Given the description of an element on the screen output the (x, y) to click on. 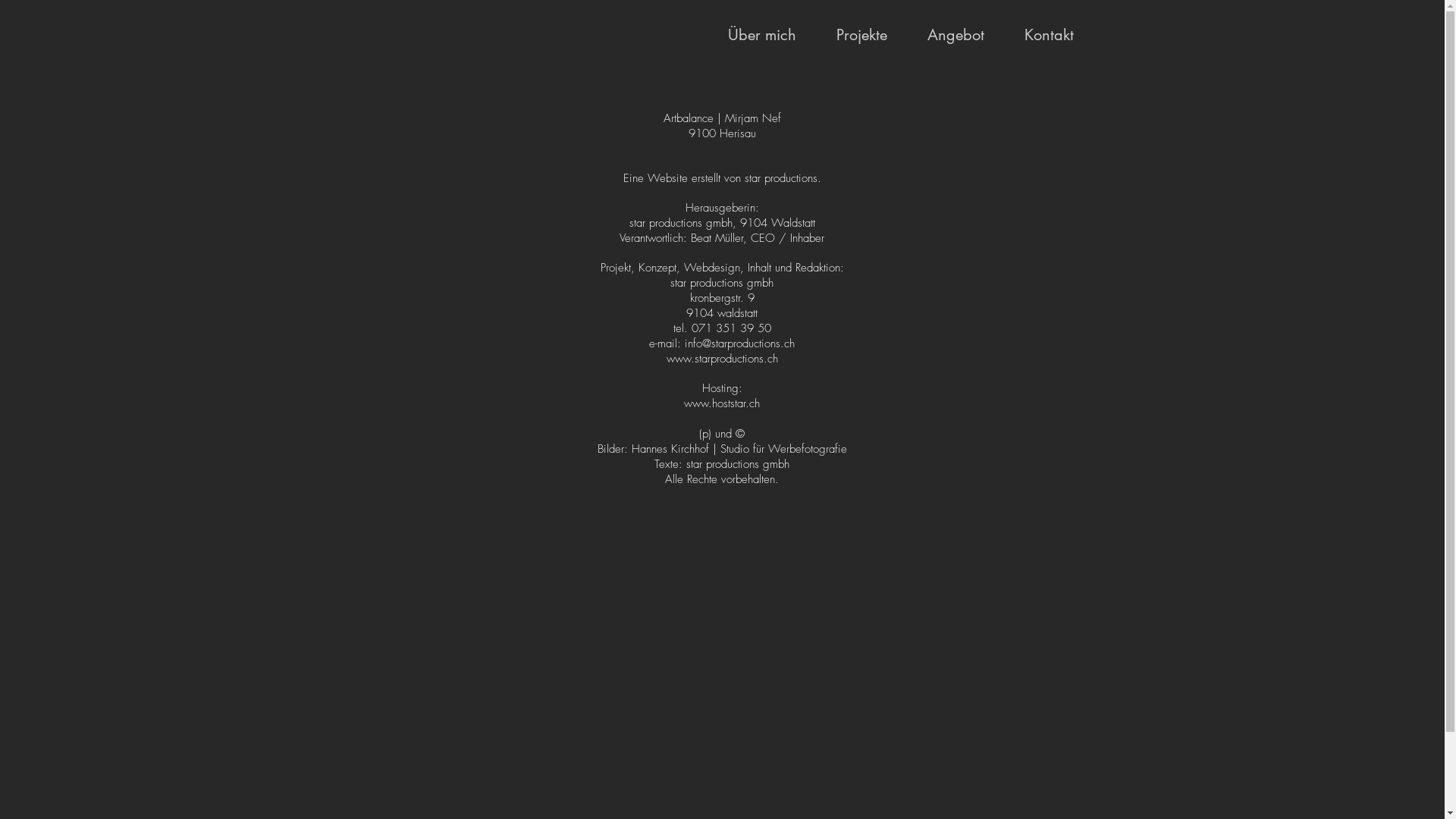
www.hoststar.ch Element type: text (721, 403)
www.starproductions.ch Element type: text (721, 358)
Kontakt Element type: text (1048, 34)
info@starproductions.ch Element type: text (739, 343)
Projekte Element type: text (860, 34)
Angebot Element type: text (955, 34)
